Given the description of an element on the screen output the (x, y) to click on. 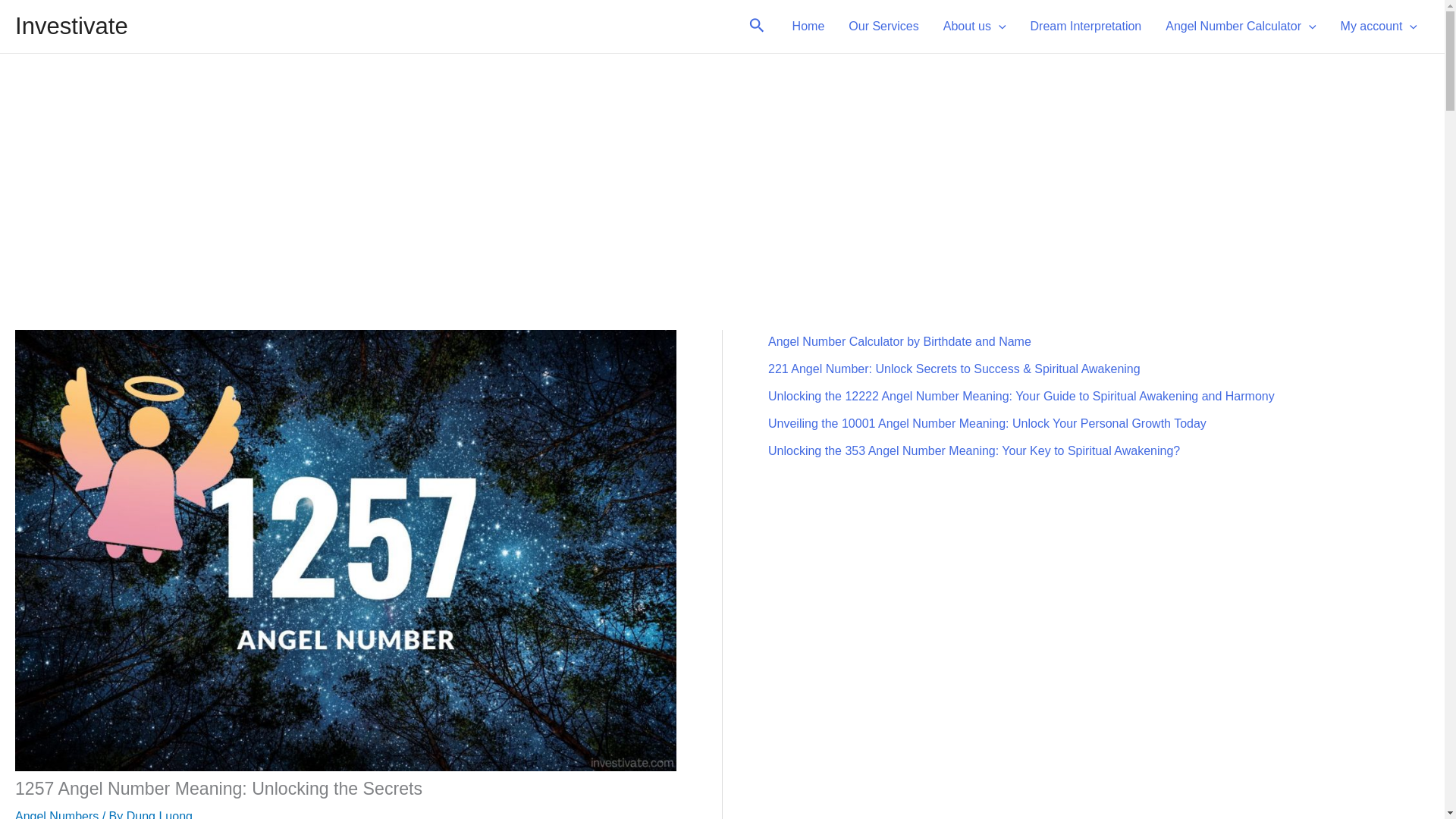
Investivate (71, 26)
My account (1378, 26)
Angel Numbers (56, 814)
Our Services (882, 26)
Angel Number Calculator (1240, 26)
Dung Luong (159, 814)
Home (808, 26)
View all posts by Dung Luong (159, 814)
Dream Interpretation (1085, 26)
